Given the description of an element on the screen output the (x, y) to click on. 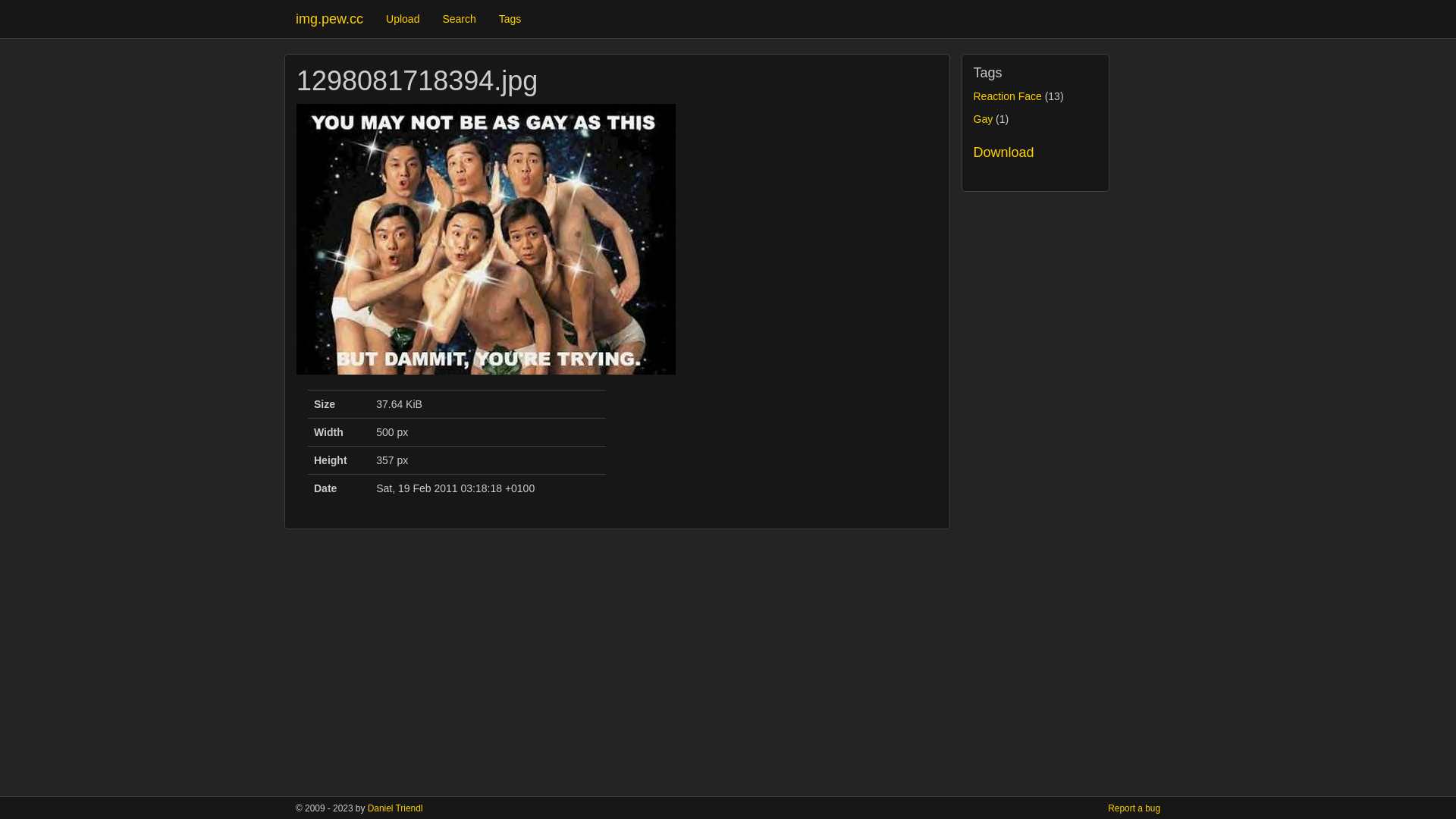
Search Element type: text (458, 18)
Download Element type: text (1003, 152)
Upload Element type: text (402, 18)
Report a bug Element type: text (1133, 808)
img.pew.cc Element type: text (329, 18)
Tags Element type: text (510, 18)
Reaction Face Element type: text (1007, 96)
Daniel Triendl Element type: text (395, 808)
Gay Element type: text (983, 118)
